Given the description of an element on the screen output the (x, y) to click on. 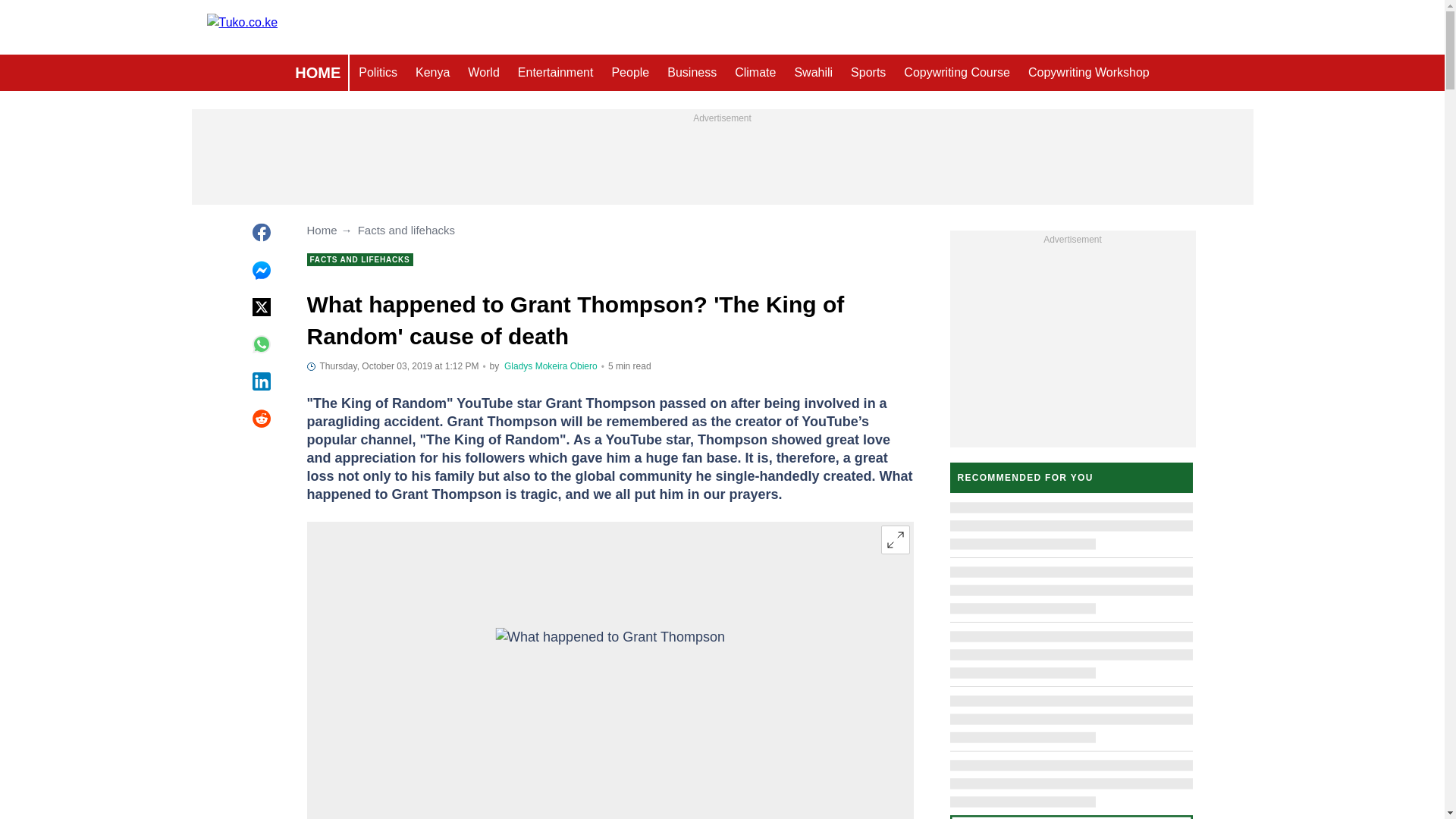
Sports (868, 72)
Climate (754, 72)
World (483, 72)
Author page (549, 366)
Entertainment (555, 72)
Business (691, 72)
Expand image (895, 539)
What happened to Grant Thompson (610, 692)
Copywriting Workshop (1088, 72)
Politics (377, 72)
